Given the description of an element on the screen output the (x, y) to click on. 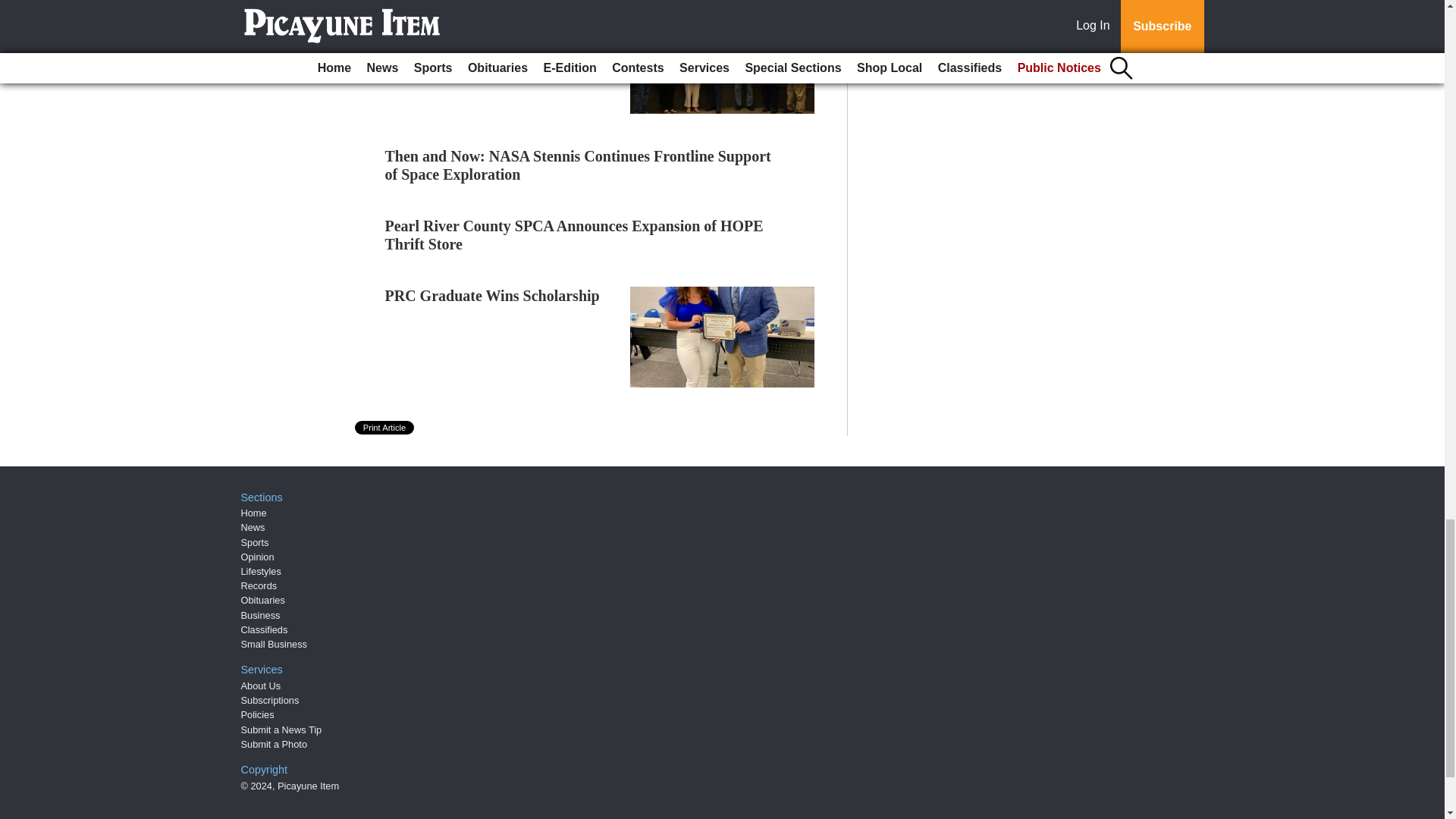
Print Article (384, 427)
PRC Graduate Wins Scholarship (492, 295)
PRC Graduate Wins Scholarship (492, 295)
